Given the description of an element on the screen output the (x, y) to click on. 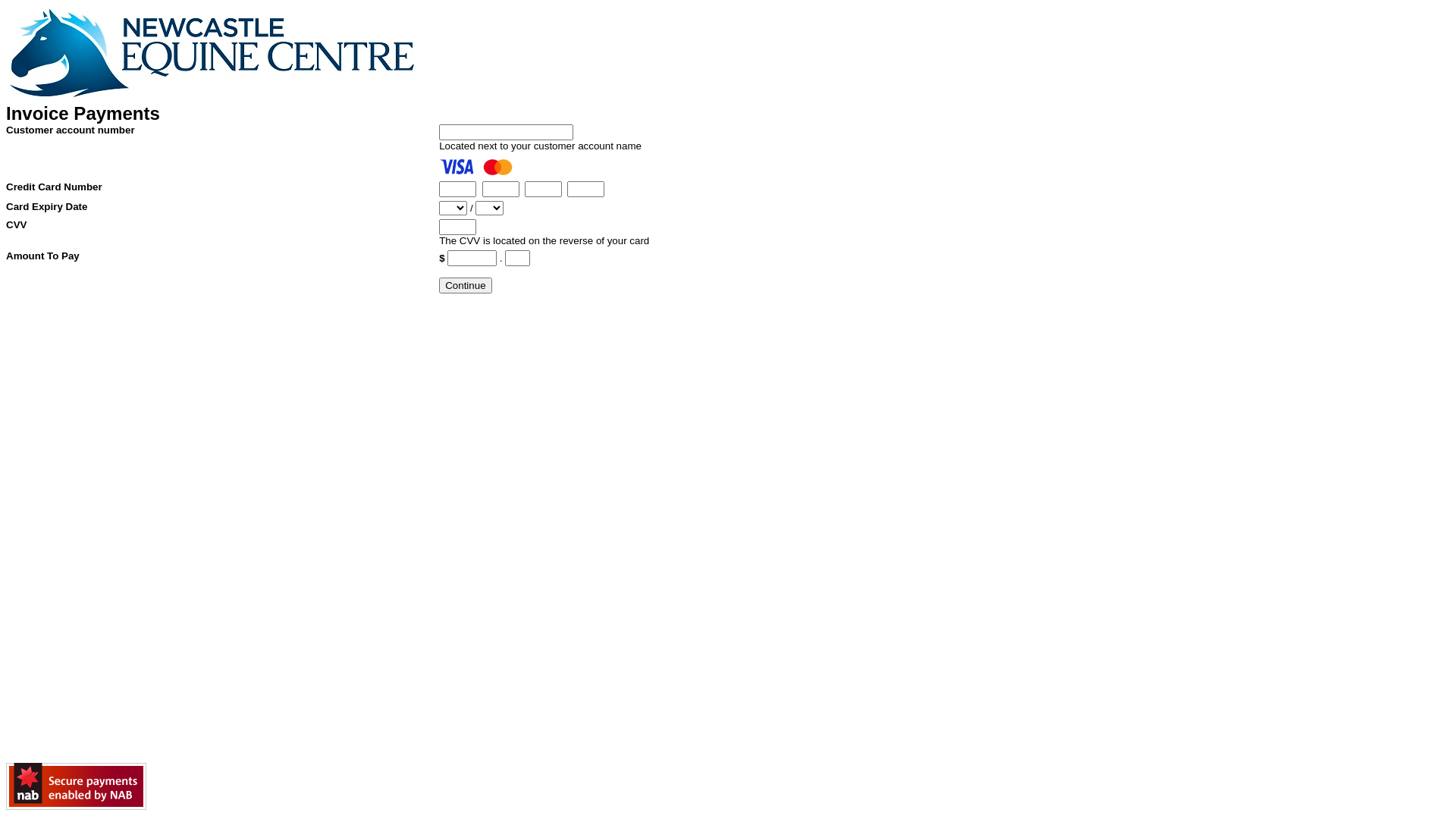
Continue Element type: text (465, 285)
